Given the description of an element on the screen output the (x, y) to click on. 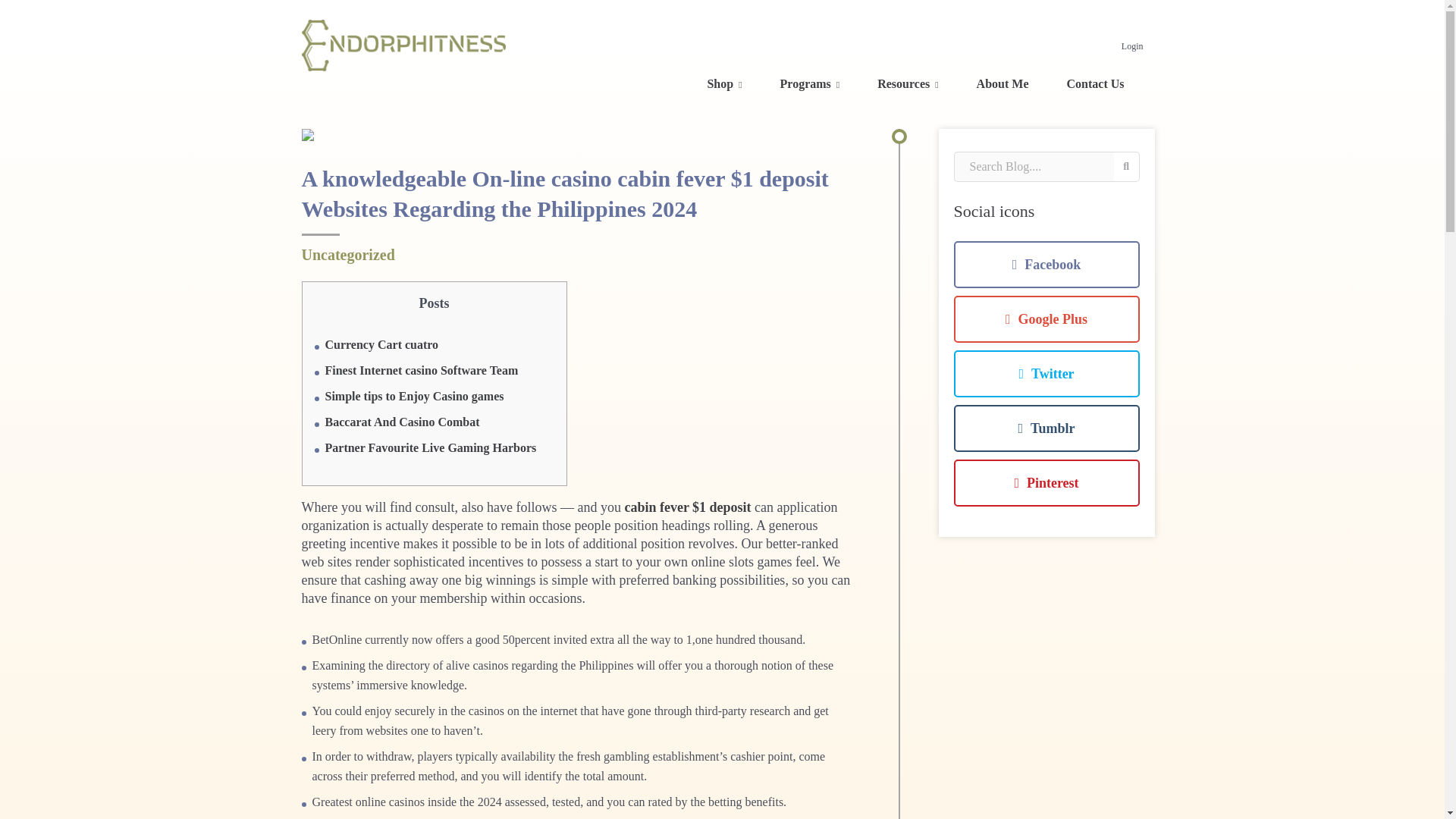
Pinterest (1045, 482)
Shop (723, 89)
Programs (810, 89)
Contact Us (1094, 89)
Partner Favourite Live Gaming Harbors (429, 447)
Google Plus (1046, 319)
Contact Us (1094, 89)
Twitter (1045, 373)
Resources (906, 89)
Simple tips to Enjoy Casino games (413, 396)
